Given the description of an element on the screen output the (x, y) to click on. 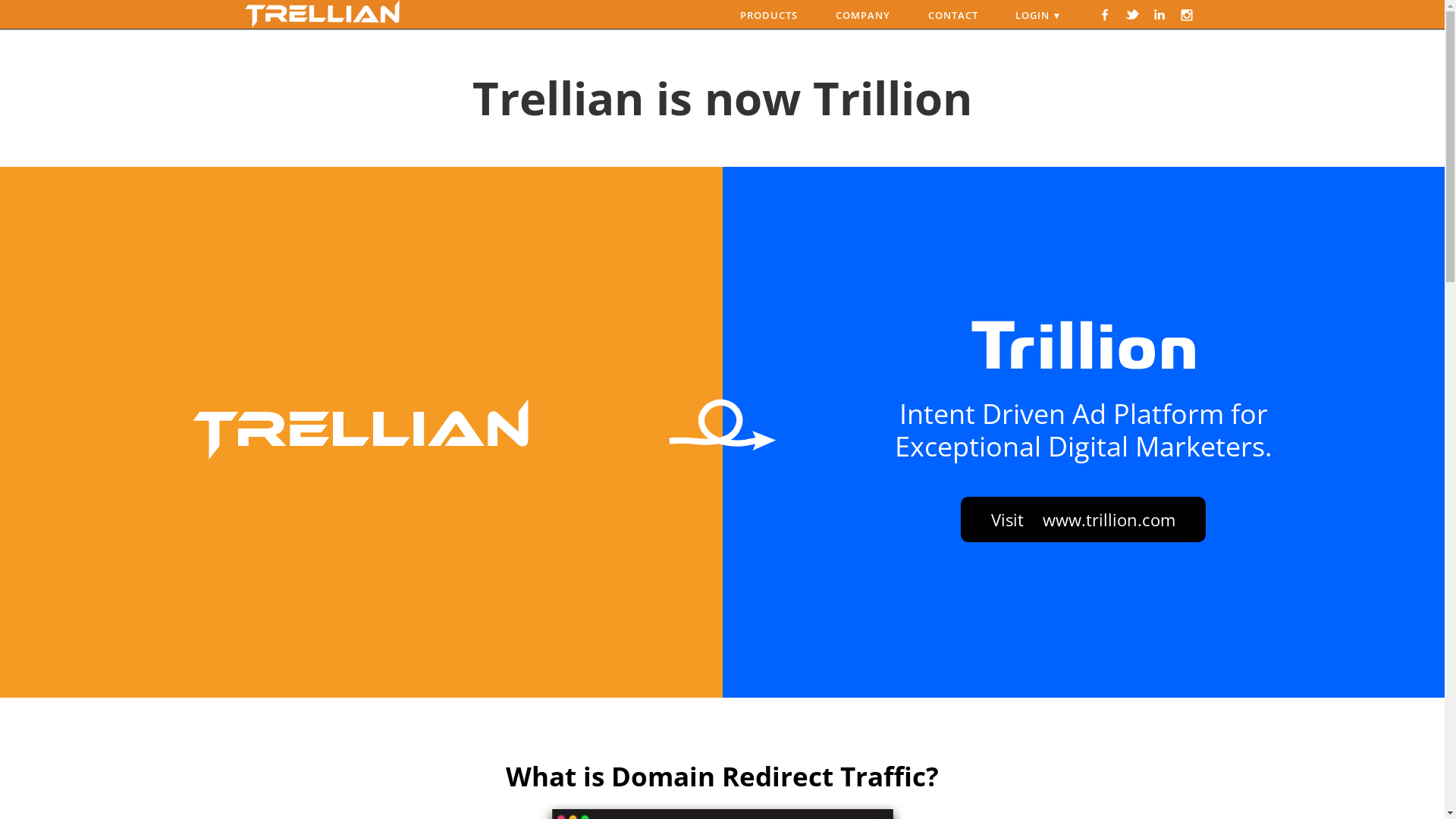
COMPANY Element type: text (862, 14)
trellian.com Element type: hover (360, 429)
trillion.com Element type: hover (1083, 344)
PRODUCTS Element type: text (768, 14)
CONTACT Element type: text (952, 14)
